Given the description of an element on the screen output the (x, y) to click on. 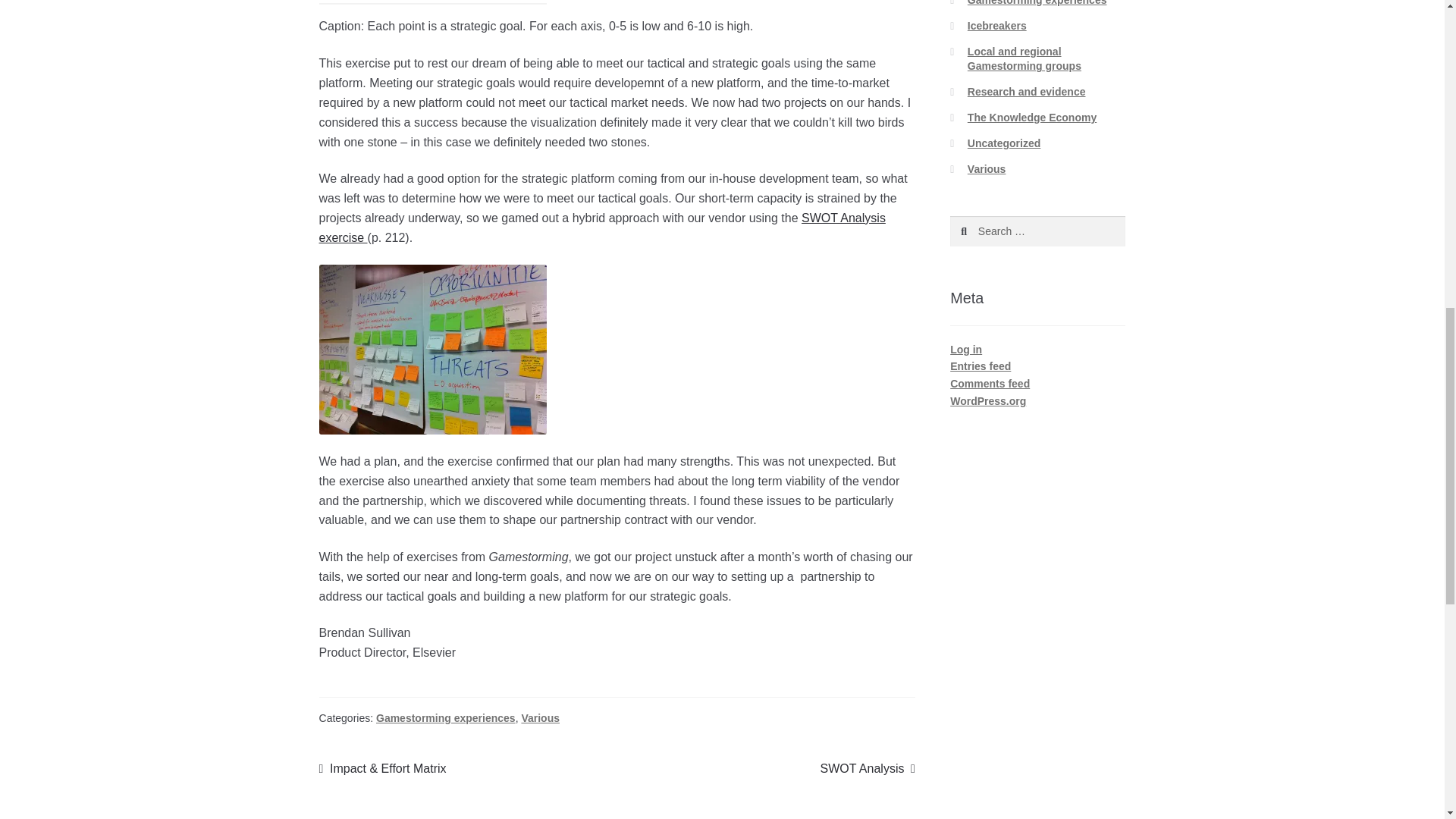
Various (540, 717)
SWOT Analysis exercise (601, 227)
Gamestorming experiences (445, 717)
